Given the description of an element on the screen output the (x, y) to click on. 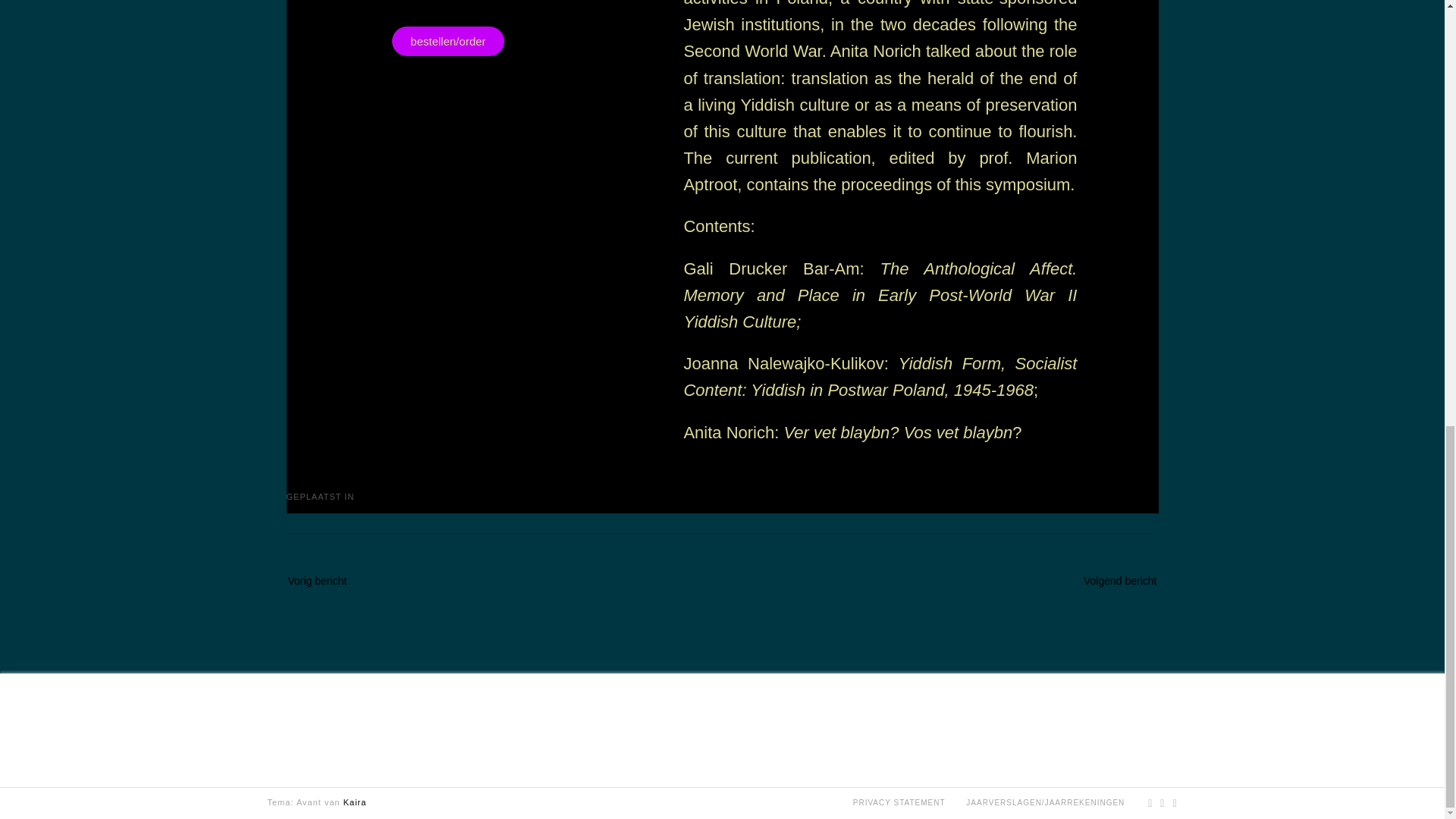
Volgend bericht (1105, 578)
PRIVACY STATEMENT (898, 802)
Vorig bericht (331, 578)
AYS (365, 496)
Kaira (354, 801)
